Given the description of an element on the screen output the (x, y) to click on. 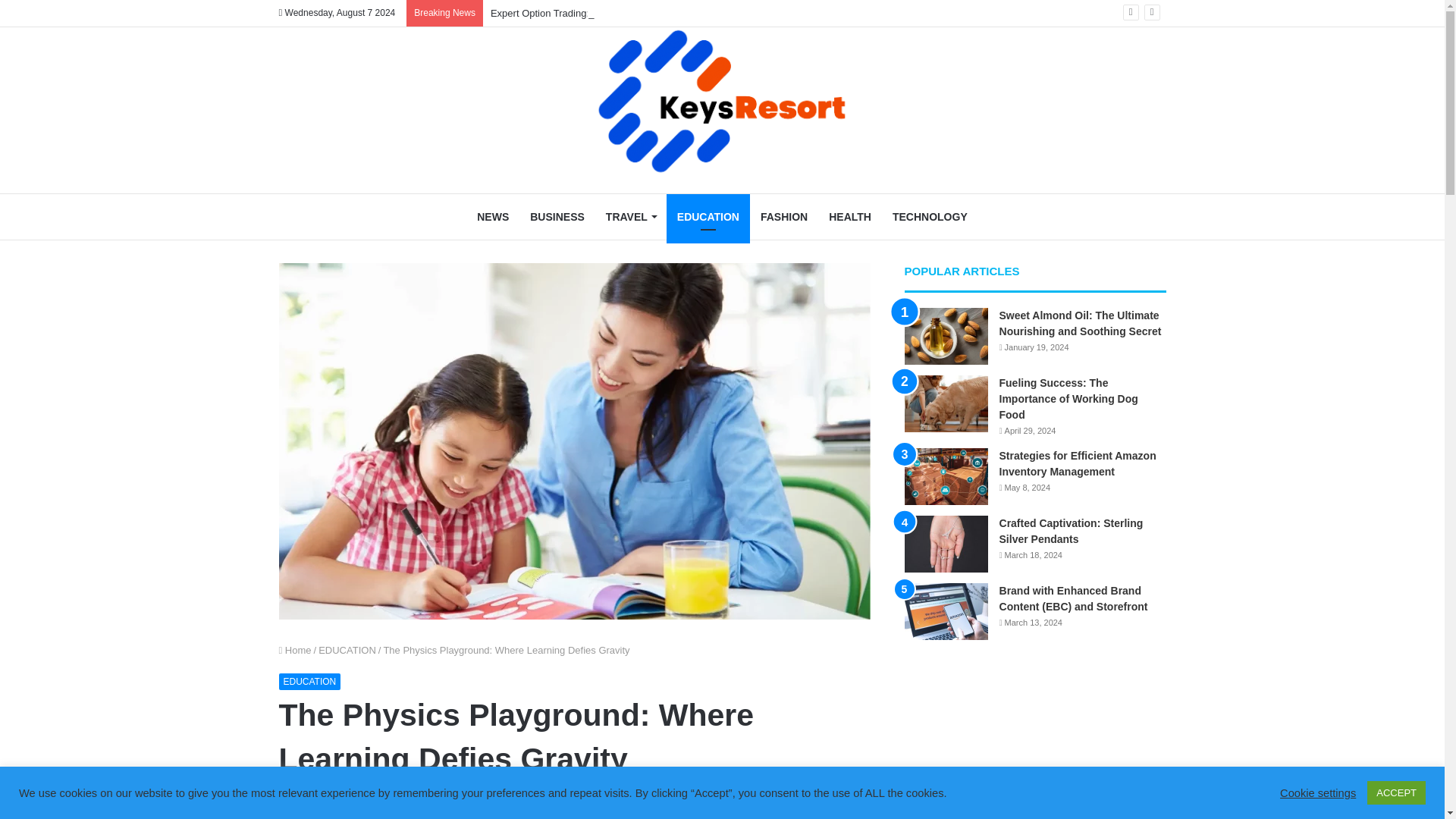
keys Resort (721, 102)
EDUCATION (346, 650)
BUSINESS (557, 216)
EDUCATION (309, 681)
TECHNOLOGY (930, 216)
Home (295, 650)
AxisSM (298, 801)
NEWS (492, 216)
TRAVEL (630, 216)
Expert Option Trading: Strategies for Maximizing Profits (611, 12)
EDUCATION (707, 216)
HEALTH (850, 216)
AxisSM (298, 801)
FASHION (783, 216)
